Given the description of an element on the screen output the (x, y) to click on. 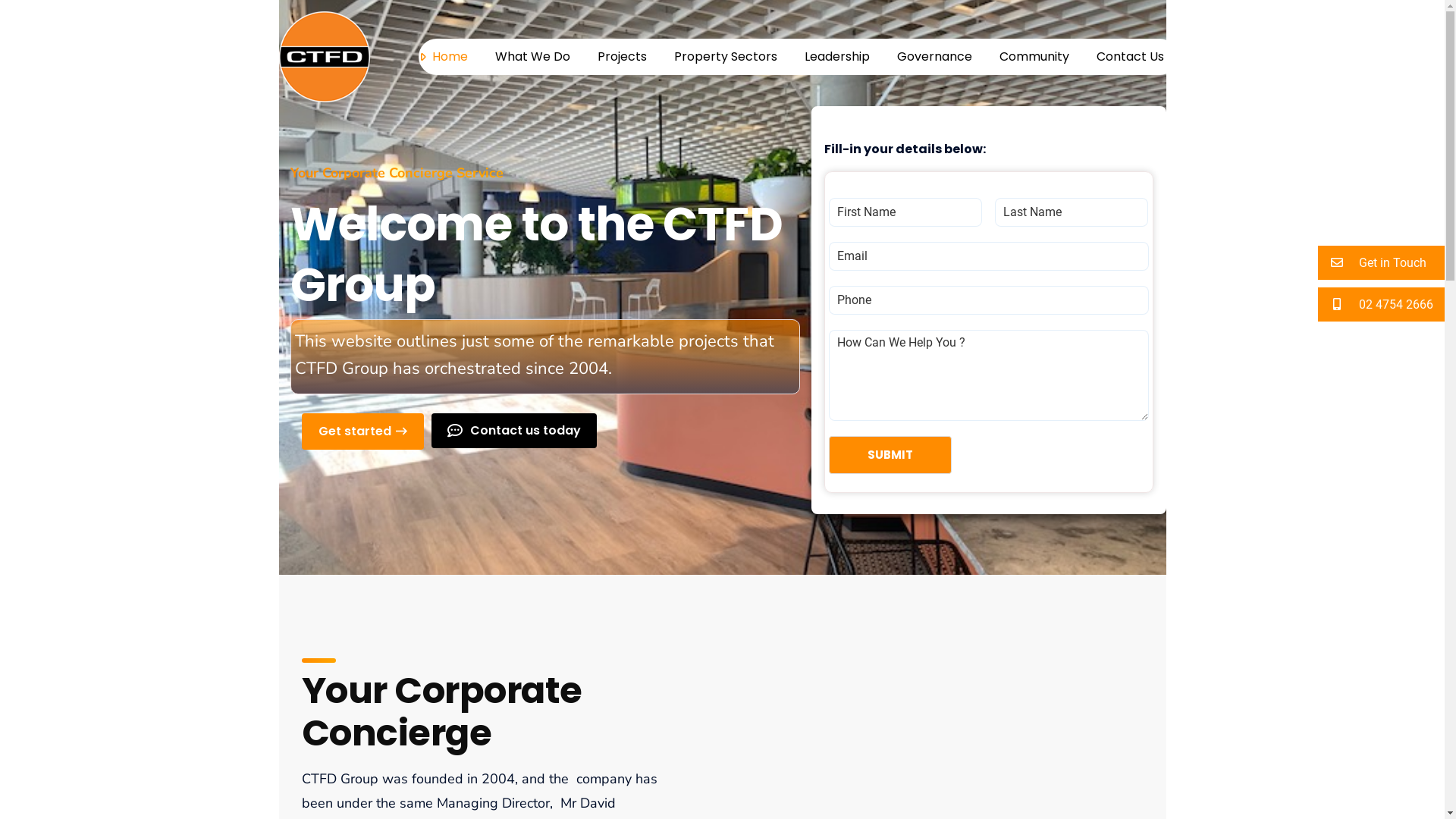
Leadership Element type: text (836, 56)
Contact Element type: text (645, 551)
Get in Touch Element type: text (1380, 262)
Delivery Element type: text (646, 524)
Home Element type: text (640, 365)
02 4754 2666 Element type: text (1380, 304)
Property Sectors Element type: text (668, 445)
Contact us today Element type: text (513, 430)
Community Element type: text (1034, 56)
Property Sectors Element type: text (724, 56)
SUBMIT Element type: text (889, 454)
SUBMIT Element type: text (907, 690)
Home Element type: text (449, 56)
Projects Element type: text (621, 56)
What We Do Element type: text (531, 56)
Contact Us Element type: text (1130, 56)
Directors Element type: text (648, 471)
Latest News Element type: text (657, 418)
Projects Element type: text (646, 498)
Get started Element type: text (362, 431)
About Us Element type: text (649, 392)
Governance Element type: text (933, 56)
